Given the description of an element on the screen output the (x, y) to click on. 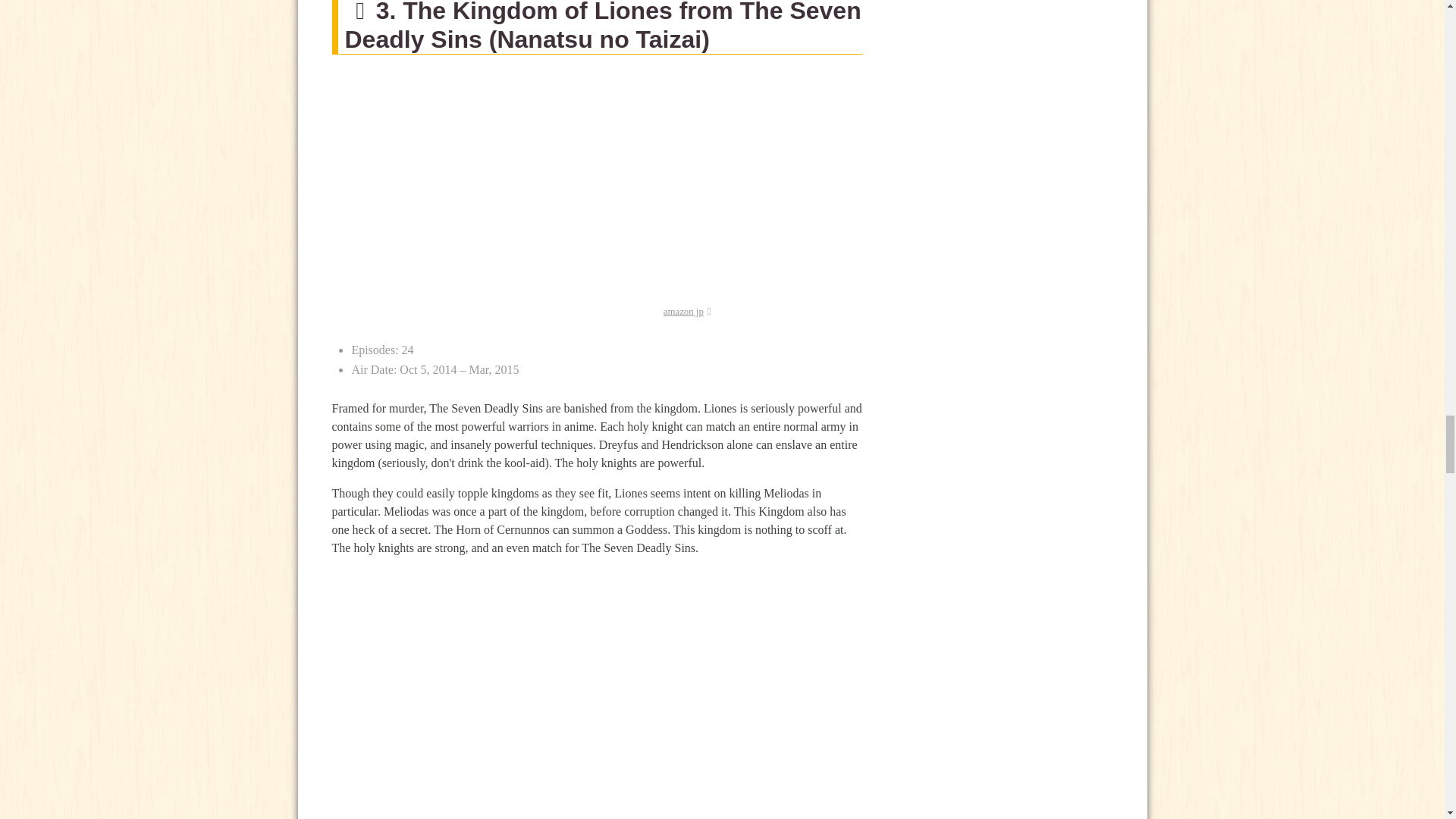
amazon jp (687, 311)
